Given the description of an element on the screen output the (x, y) to click on. 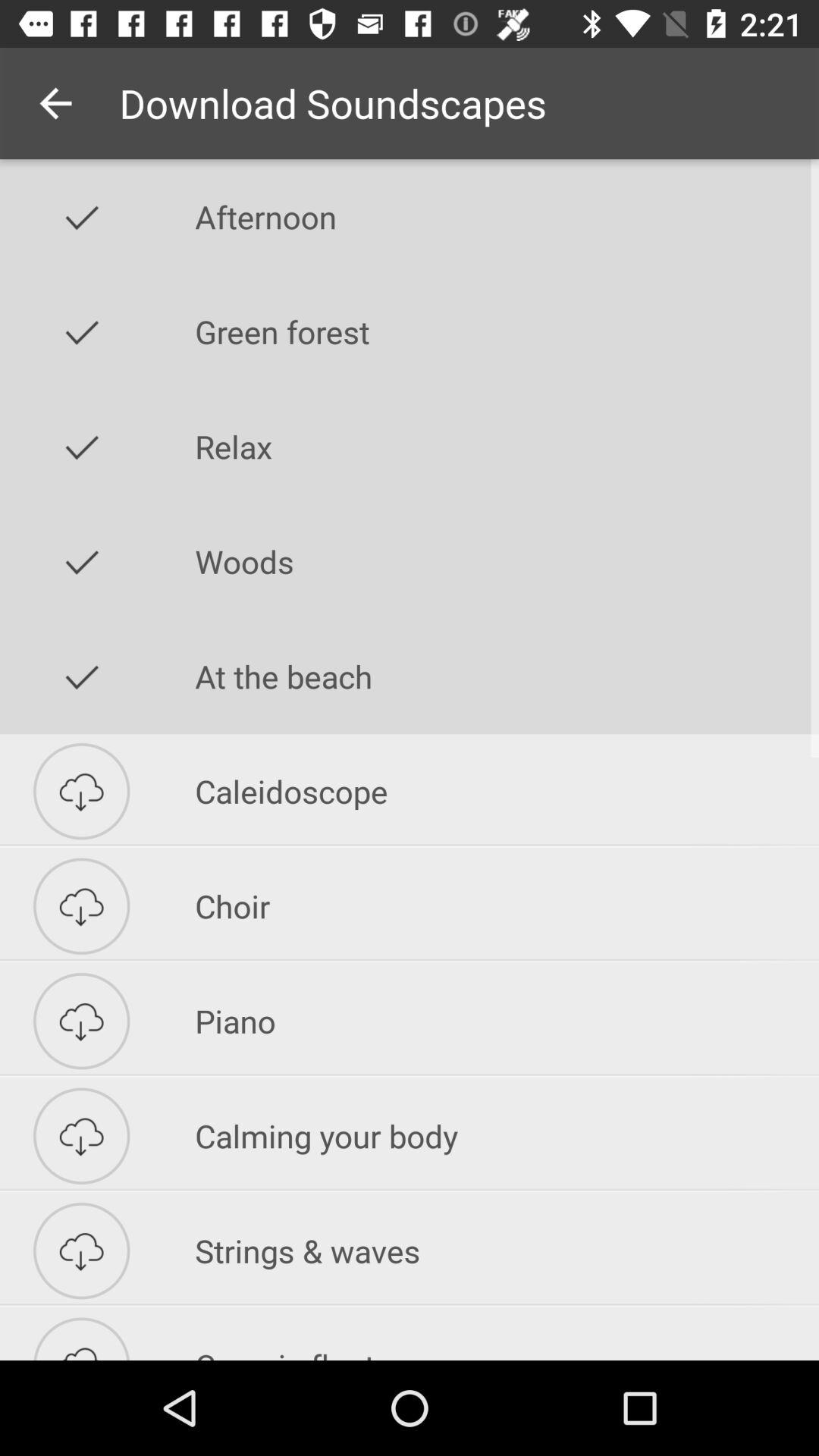
flip to afternoon icon (507, 216)
